Given the description of an element on the screen output the (x, y) to click on. 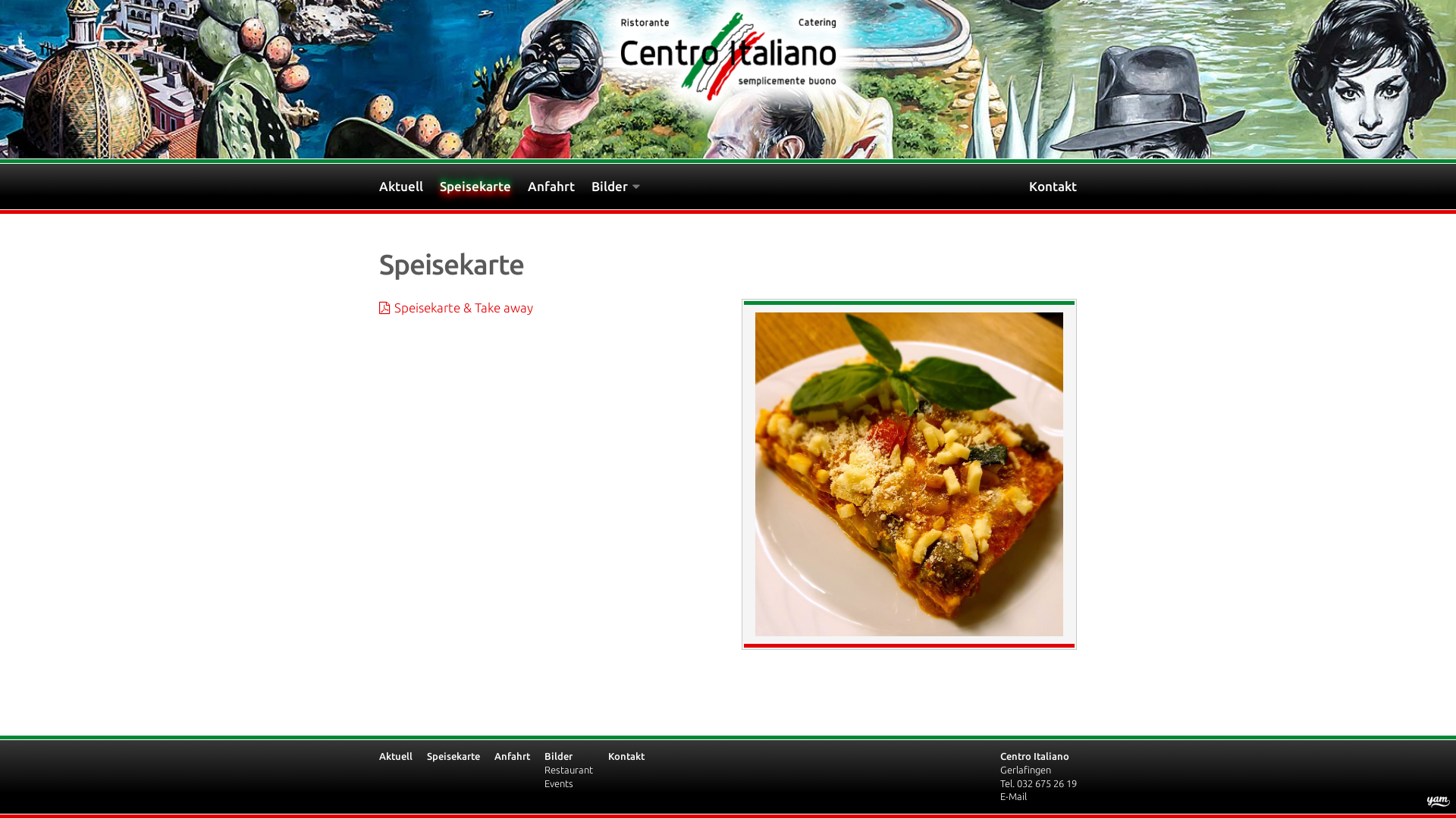
Events Element type: text (558, 783)
Aktuell Element type: text (395, 755)
Anfahrt Element type: text (559, 186)
Anfahrt Element type: text (512, 755)
Speisekarte & Take away Element type: text (456, 307)
Bilder Element type: text (623, 186)
Speisekarte Element type: text (483, 186)
Restaurant Element type: text (568, 769)
Speisekarte Element type: text (453, 755)
Bilder Element type: text (558, 755)
E-Mail Element type: text (1013, 795)
Kontakt Element type: text (626, 755)
Kontakt Element type: text (1052, 186)
developed by yam Element type: hover (1438, 801)
Aktuell Element type: text (409, 186)
